Given the description of an element on the screen output the (x, y) to click on. 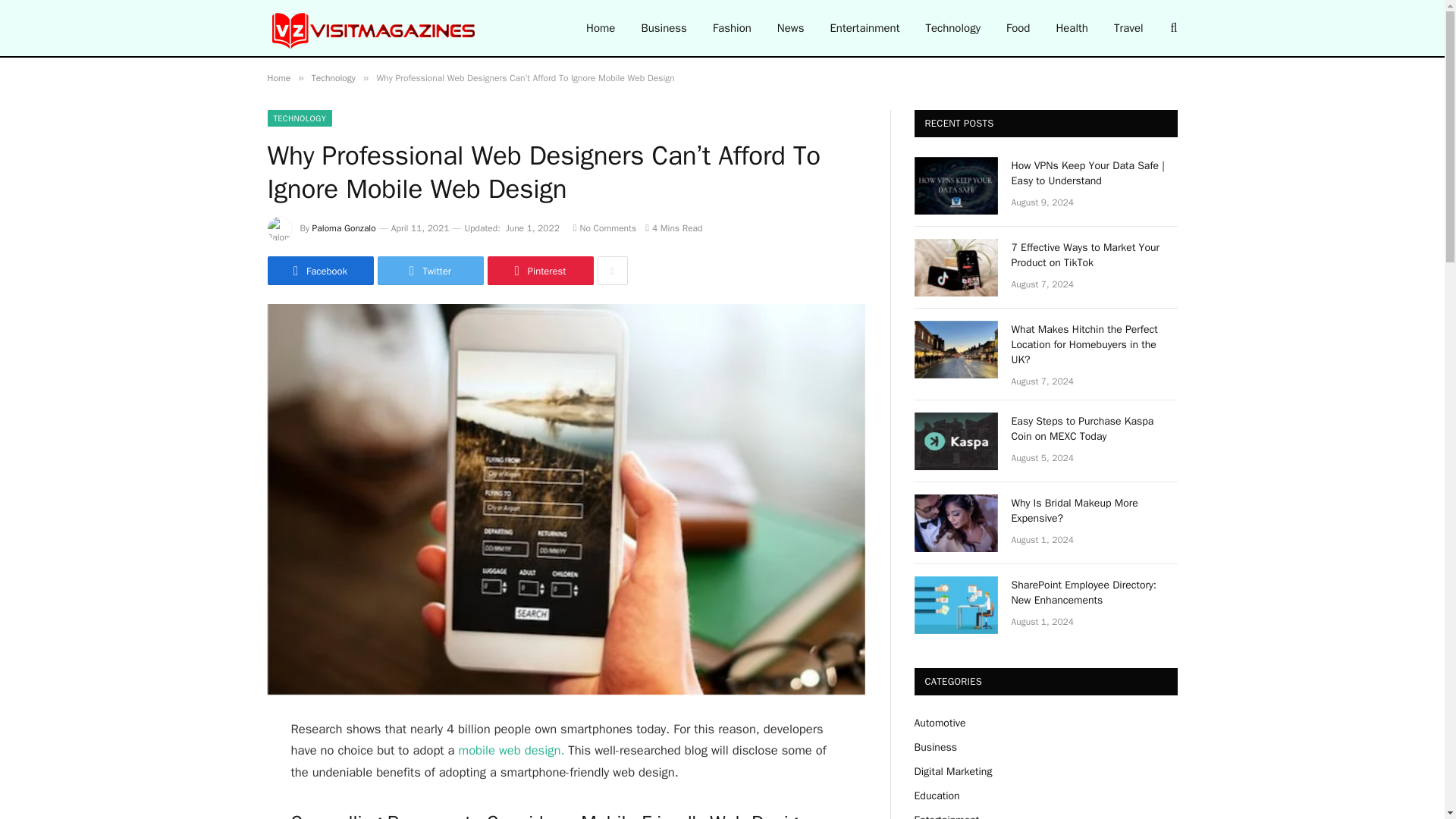
Health (1071, 28)
Share on Pinterest (539, 270)
Technology (952, 28)
Share on Facebook (319, 270)
News (790, 28)
Posts by Paloma Gonzalo (344, 227)
Fashion (732, 28)
Twitter (430, 270)
Home (600, 28)
Facebook (319, 270)
